Given the description of an element on the screen output the (x, y) to click on. 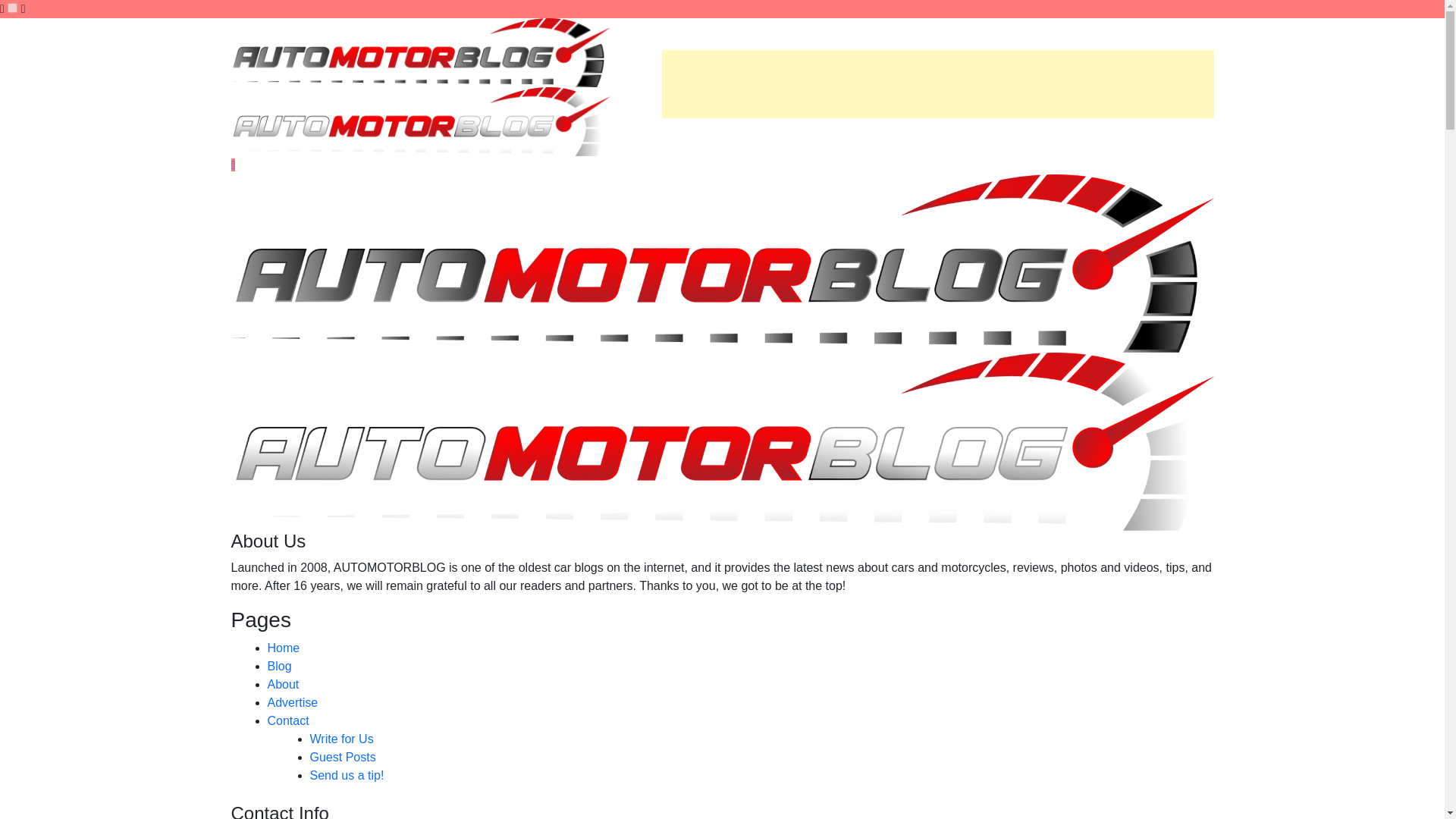
Write for Us (340, 738)
Advertise (291, 702)
Contact (287, 720)
Blog (278, 666)
on (12, 8)
Send us a tip! (346, 775)
About (282, 684)
Home (282, 647)
Guest Posts (341, 757)
